Given the description of an element on the screen output the (x, y) to click on. 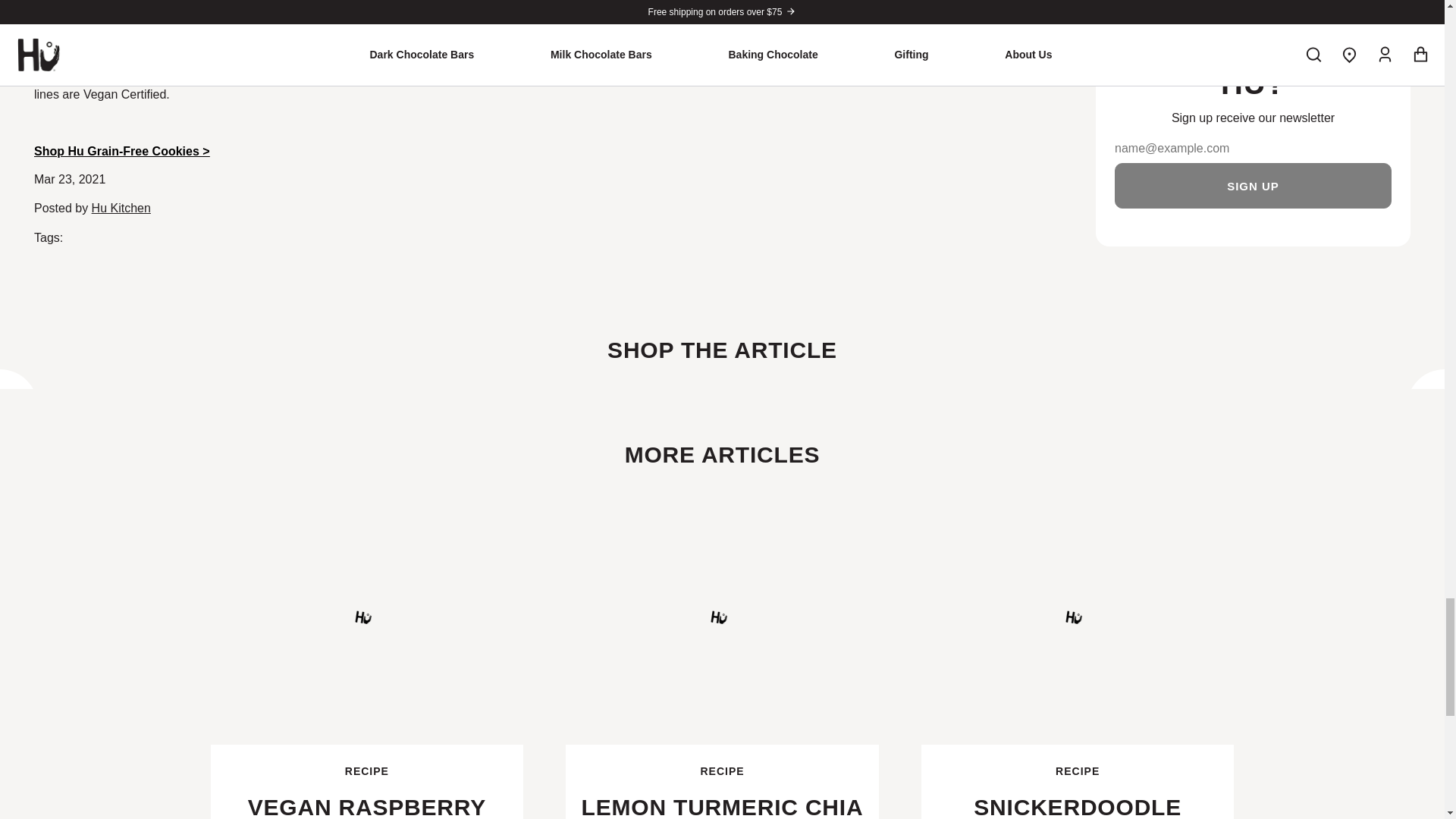
Hu Grain Free Cookies (1077, 660)
